Given the description of an element on the screen output the (x, y) to click on. 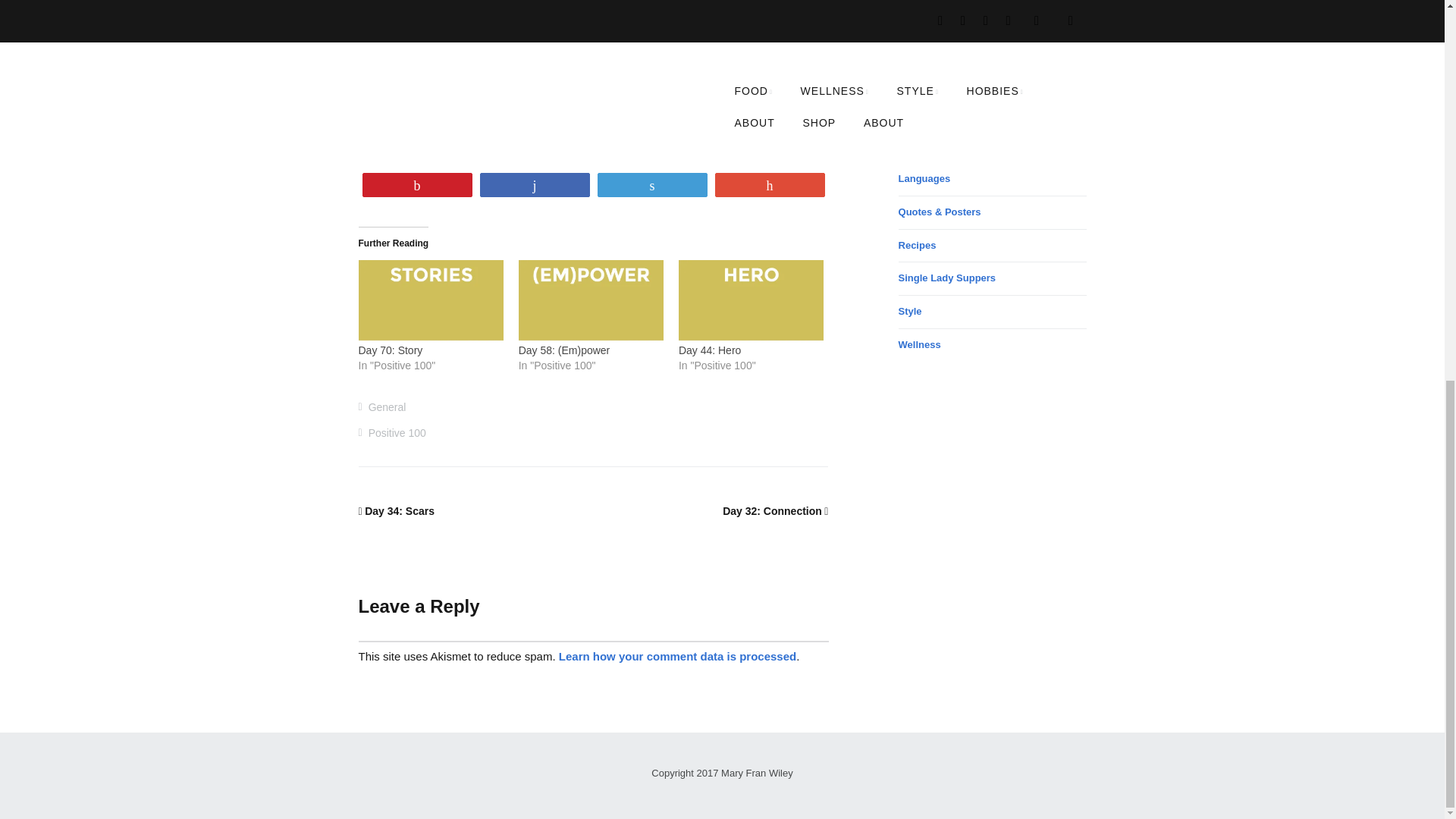
Day 70: Story (390, 349)
Day 70: Story (430, 301)
Day 44: Hero (709, 349)
Day 44: Hero (751, 301)
